Given the description of an element on the screen output the (x, y) to click on. 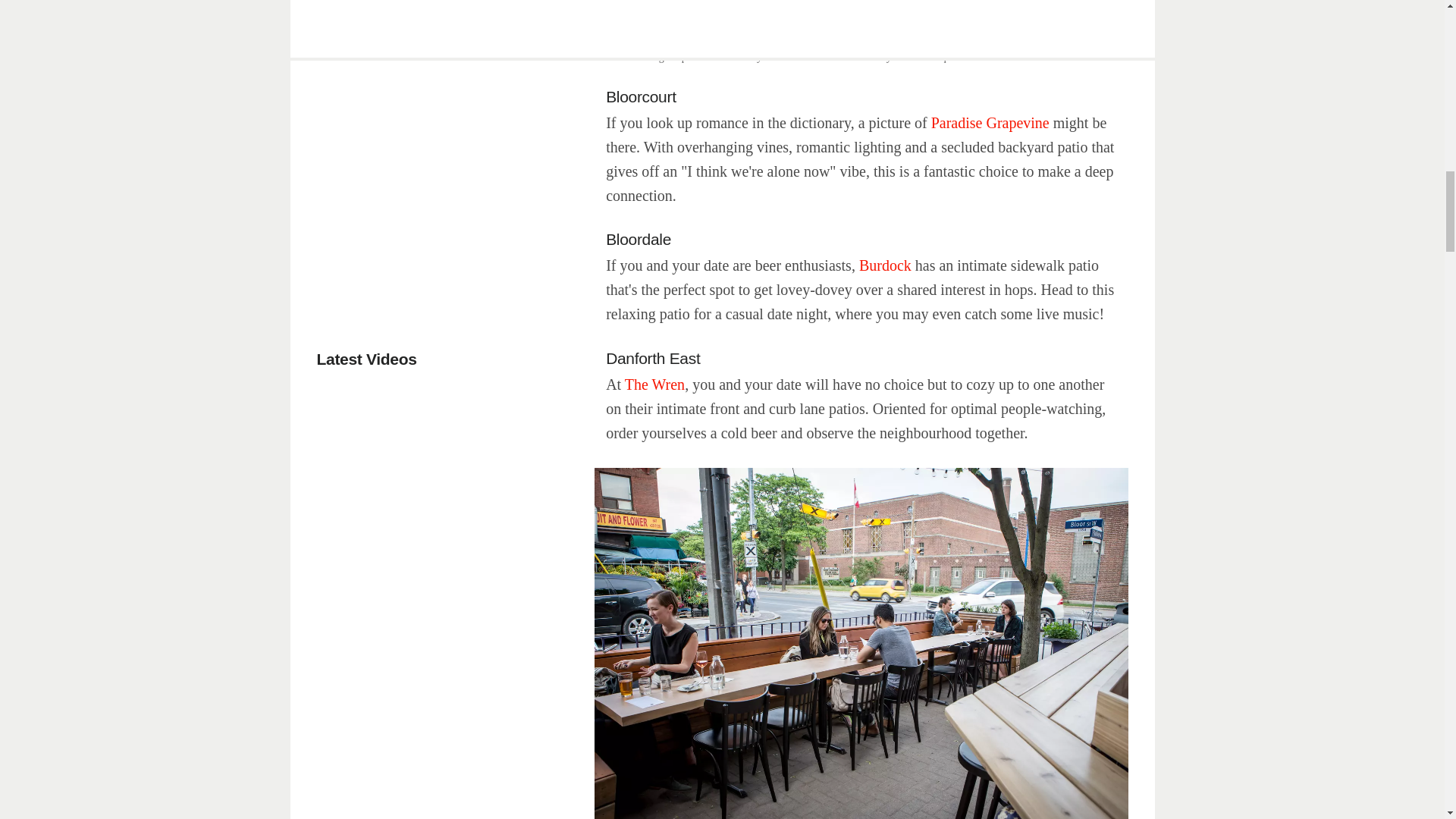
Paradise Grapevine (990, 121)
Burdock (887, 264)
The Wren (654, 384)
